Given the description of an element on the screen output the (x, y) to click on. 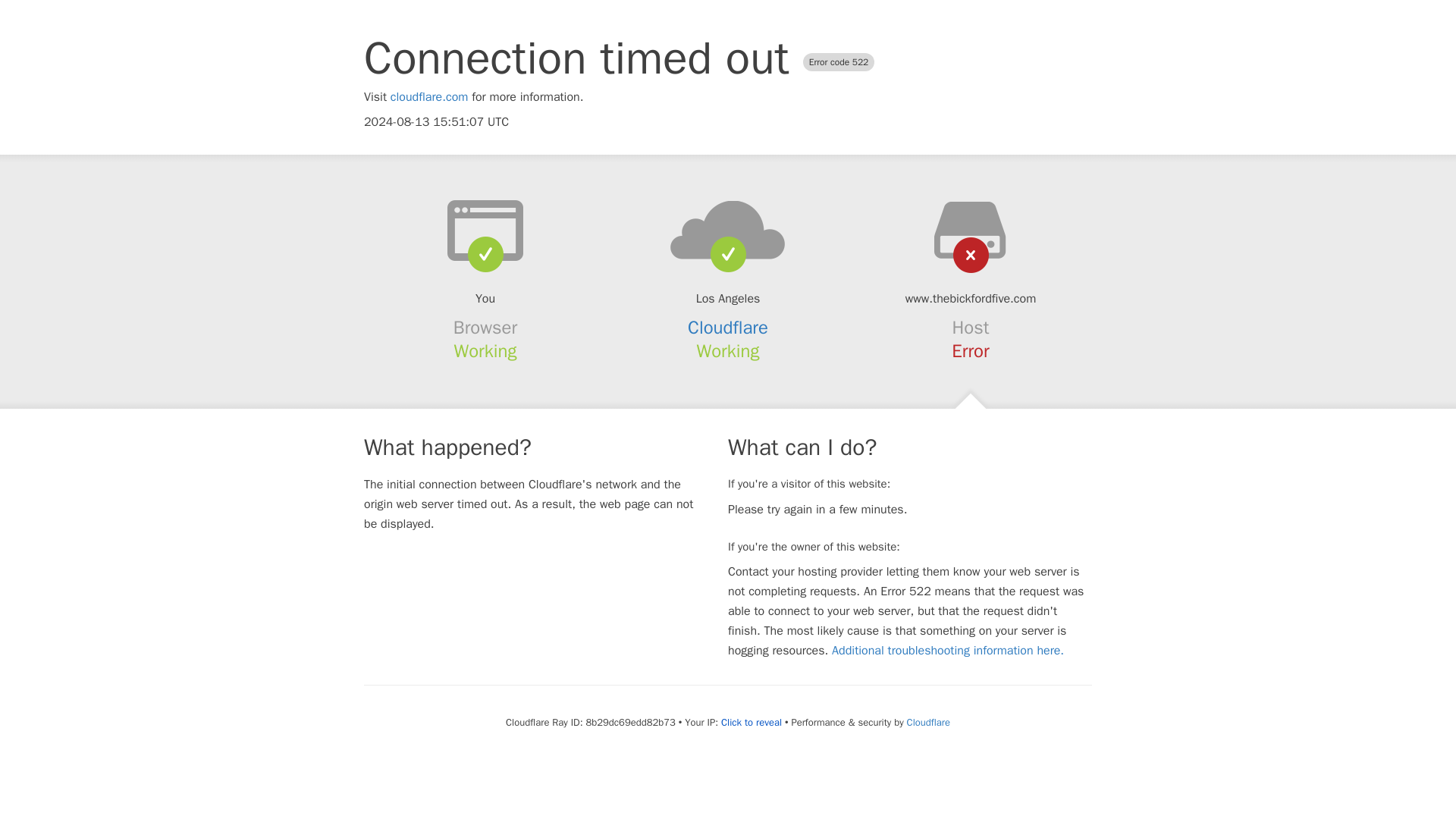
Cloudflare (928, 721)
cloudflare.com (429, 96)
Additional troubleshooting information here. (947, 650)
Click to reveal (750, 722)
Cloudflare (727, 327)
